Given the description of an element on the screen output the (x, y) to click on. 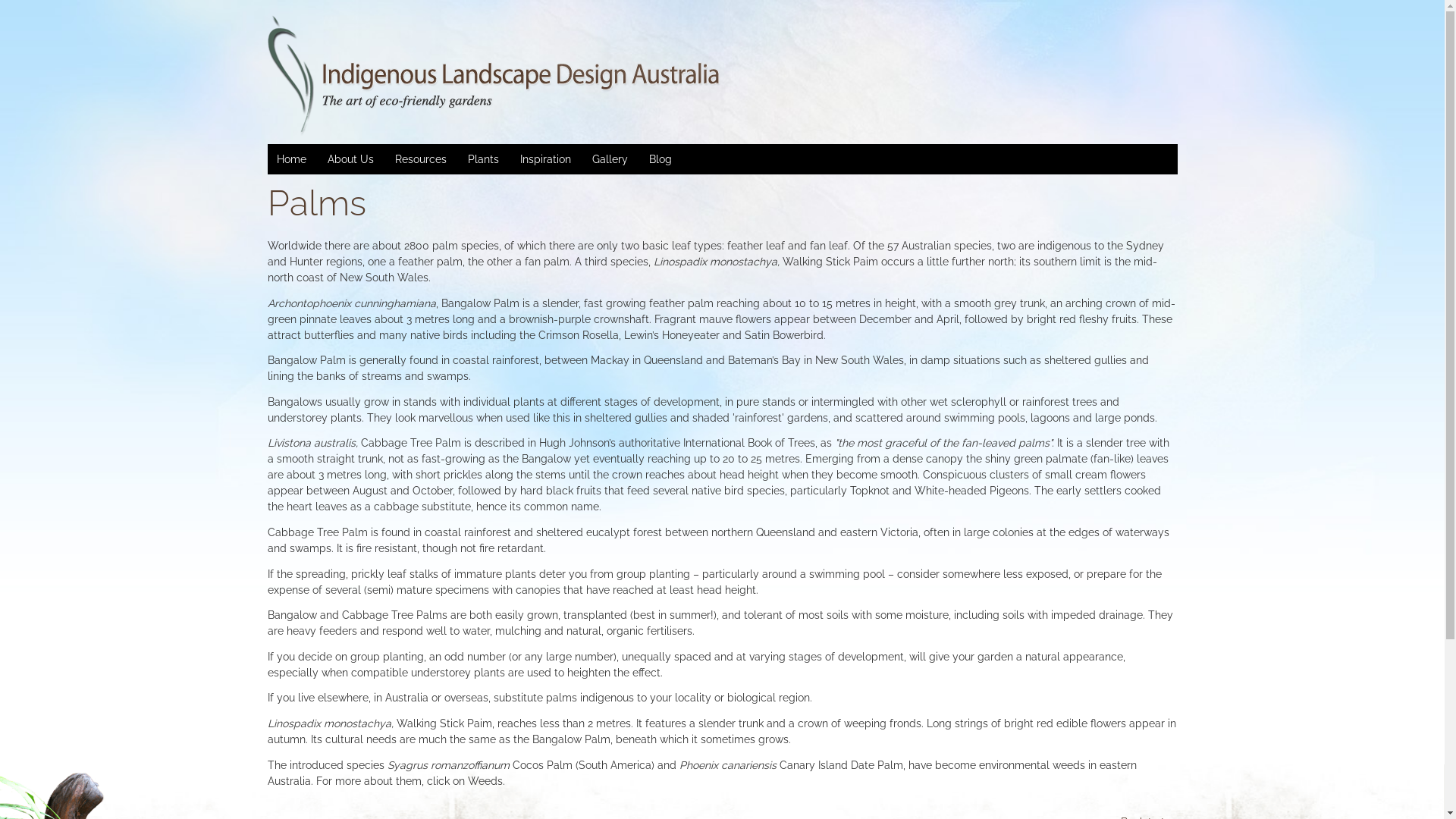
Resources Element type: text (420, 159)
Blog Element type: text (660, 159)
Indigenous Landscape Design Australia Element type: hover (380, 75)
Inspiration Element type: text (545, 159)
Plants Element type: text (482, 159)
About Us Element type: text (350, 159)
Gallery Element type: text (609, 159)
Home Element type: text (290, 159)
